Given the description of an element on the screen output the (x, y) to click on. 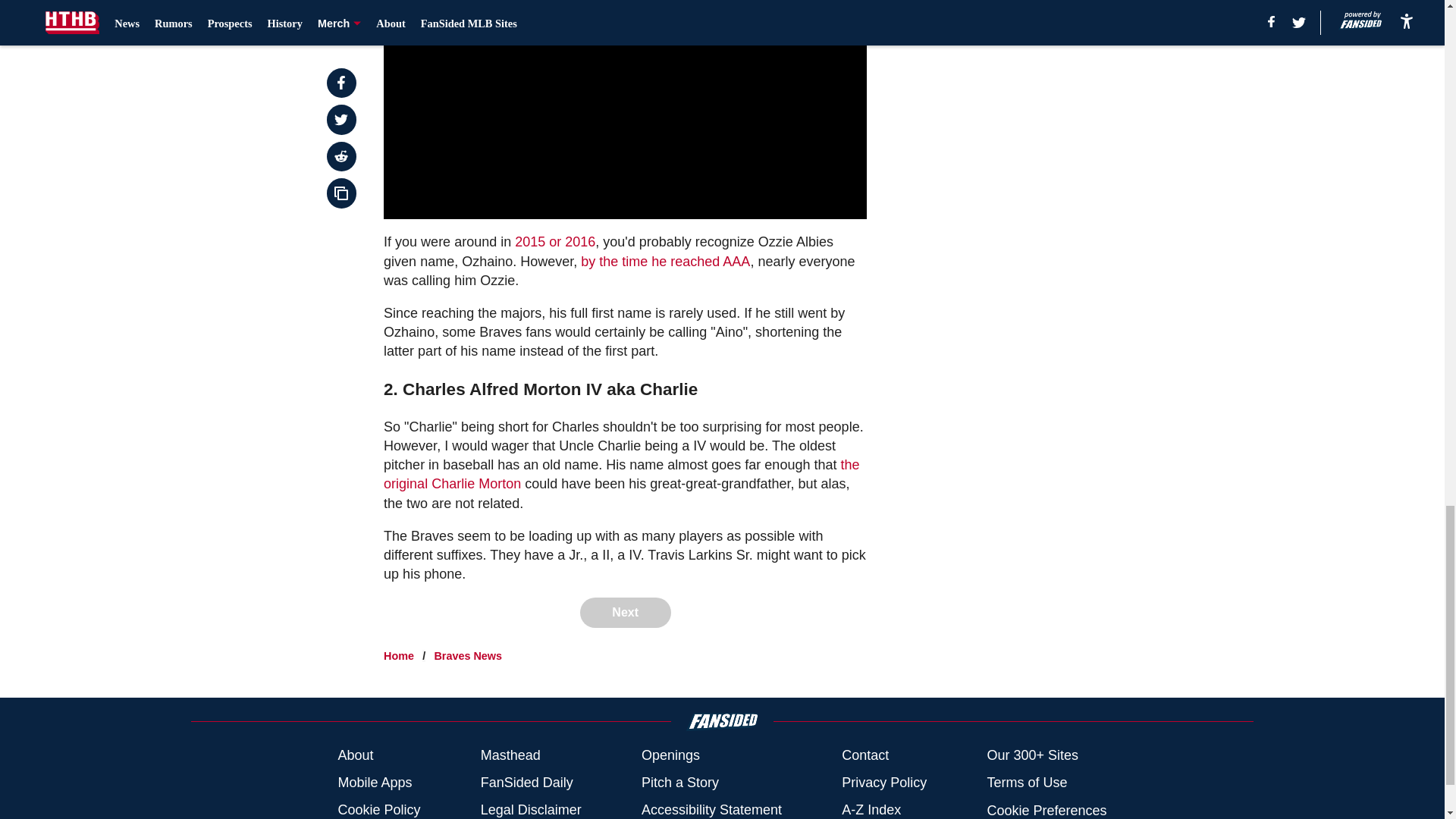
Next (625, 612)
the original Charlie Morton (621, 474)
2015 or 2016 (553, 241)
by the time he reached AAA (664, 261)
